Given the description of an element on the screen output the (x, y) to click on. 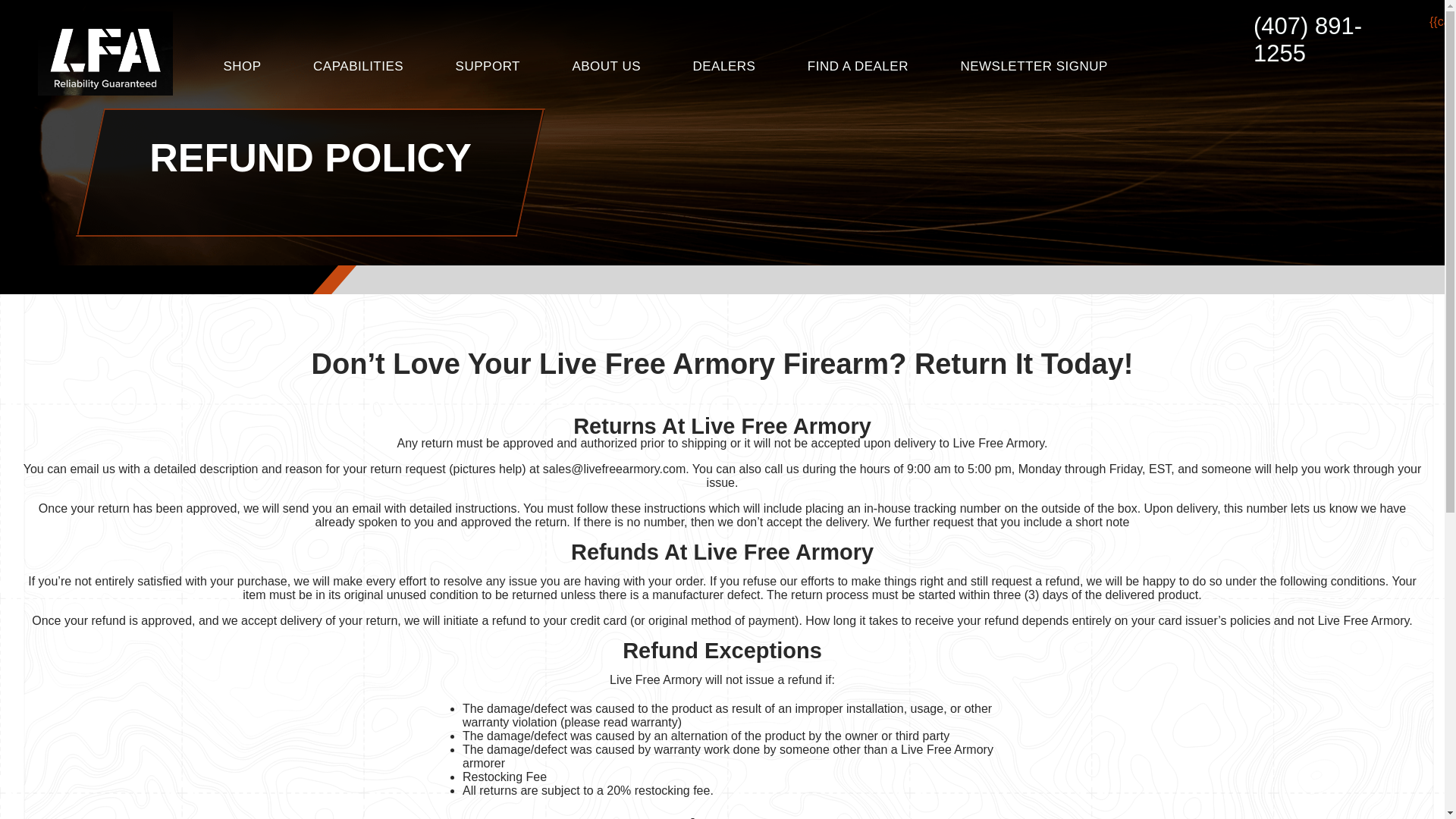
SHOP (243, 65)
CAPABILITIES (359, 65)
FIND A DEALER (859, 65)
Live Free Armory (105, 53)
NEWSLETTER SIGNUP (1034, 65)
